Given the description of an element on the screen output the (x, y) to click on. 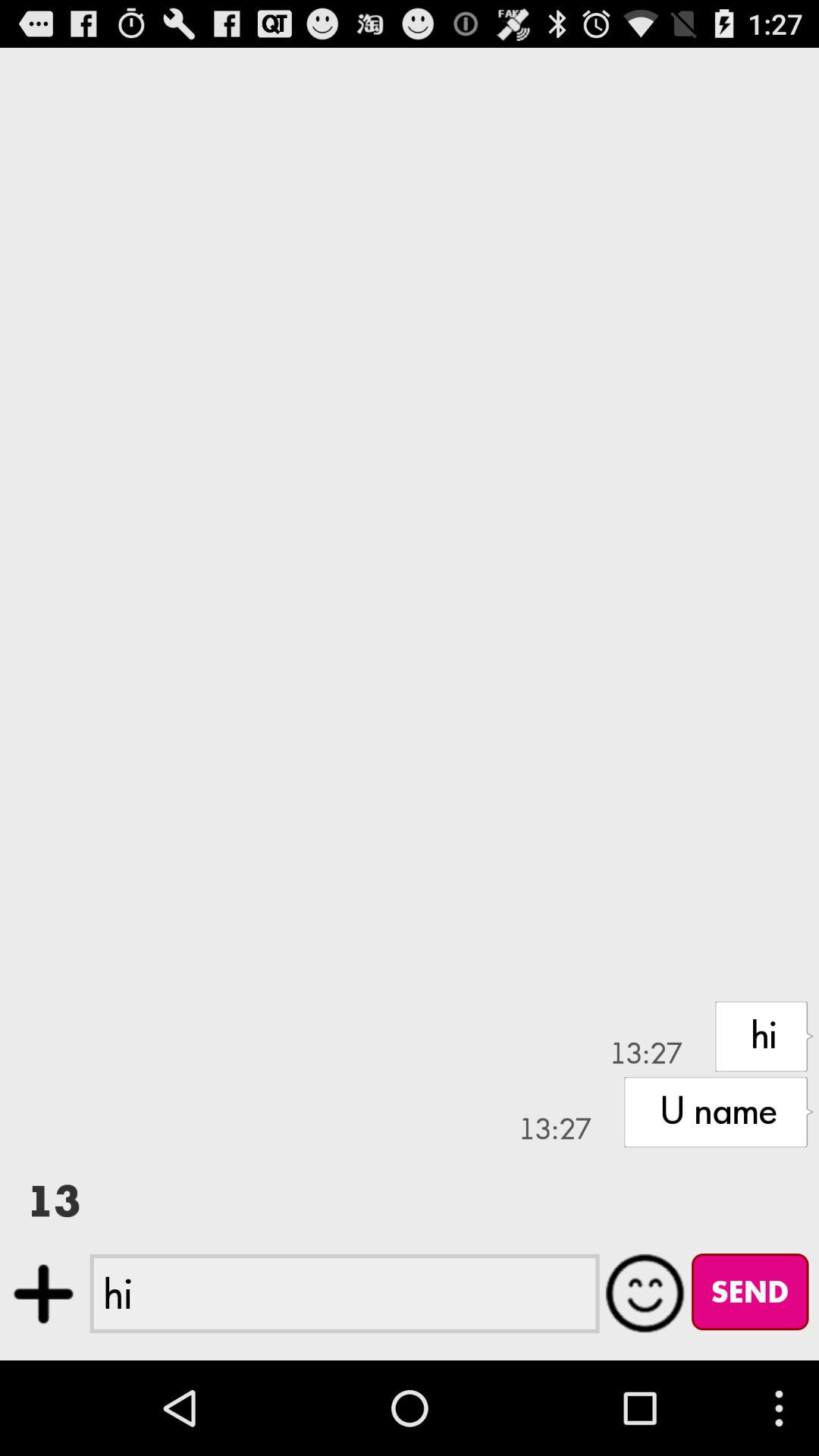
emoji selection (645, 1293)
